Given the description of an element on the screen output the (x, y) to click on. 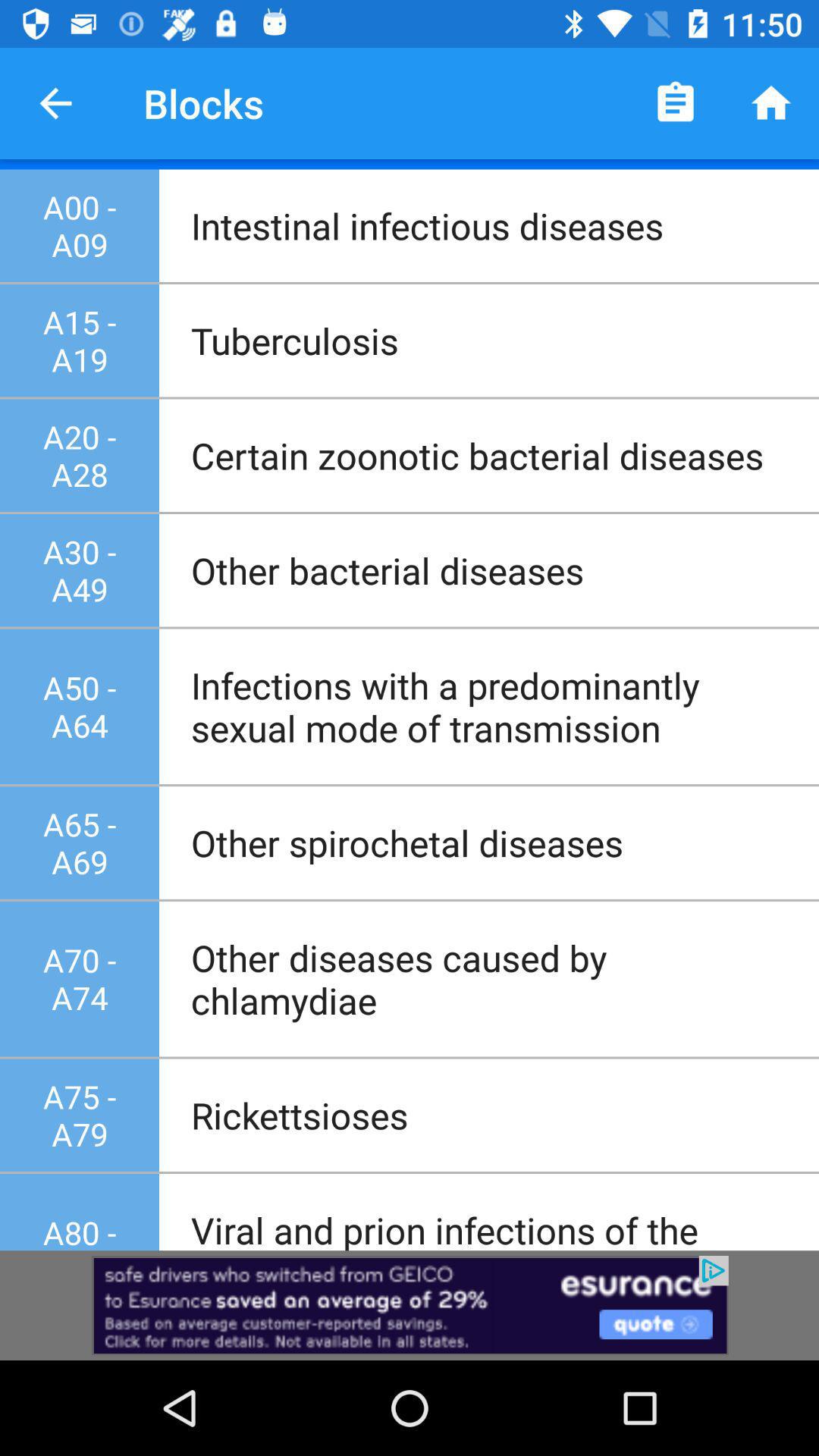
advertisement page (409, 1305)
